Given the description of an element on the screen output the (x, y) to click on. 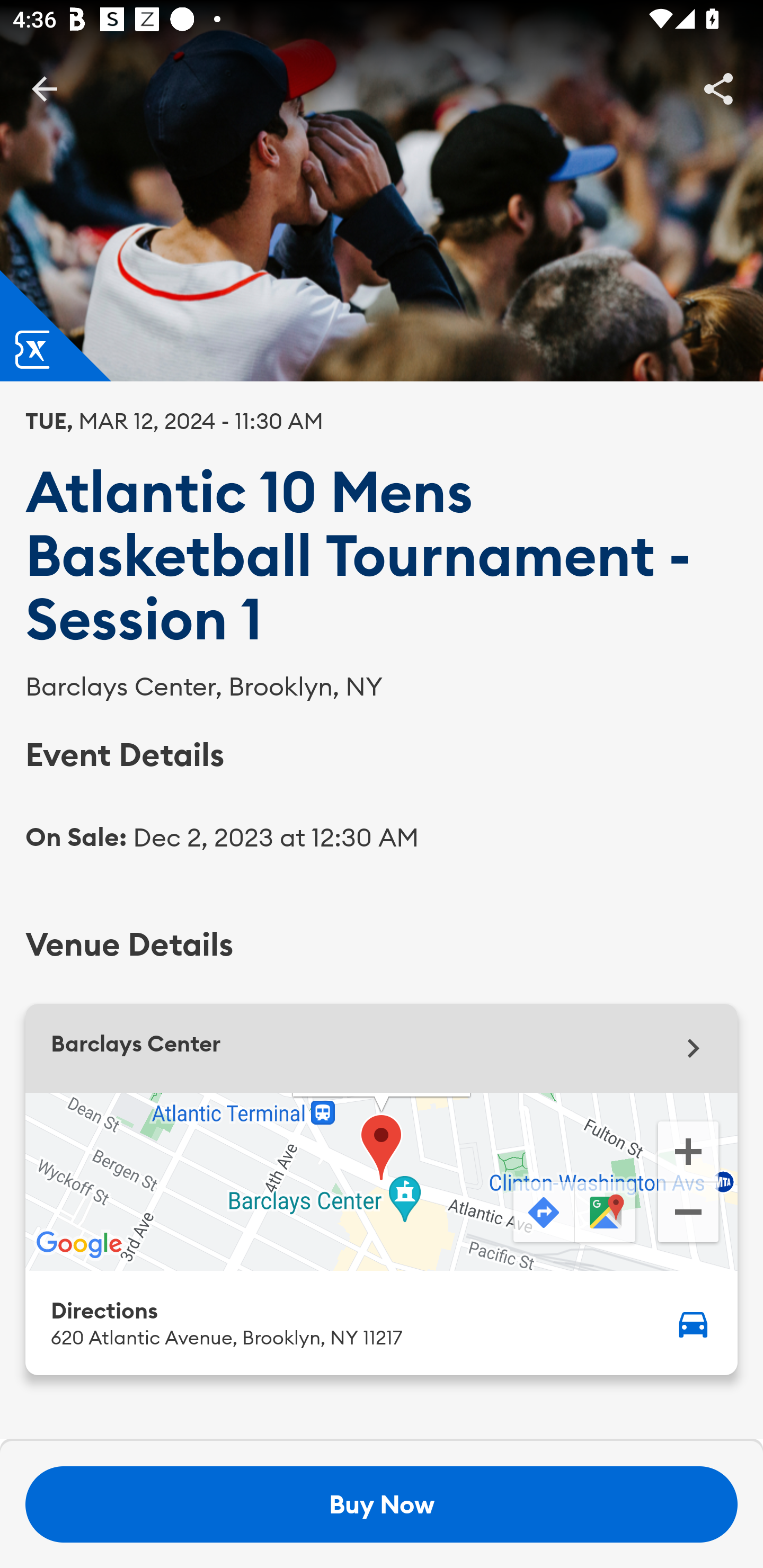
BackButton (44, 88)
Share (718, 88)
Barclays Center (381, 1047)
Zoom in (687, 1149)
Get directions (541, 1212)
Open in Google Maps (606, 1212)
Zoom out (687, 1214)
Directions 620 Atlantic Avenue, Brooklyn, NY 11217 (381, 1322)
Buy Now (381, 1504)
